Given the description of an element on the screen output the (x, y) to click on. 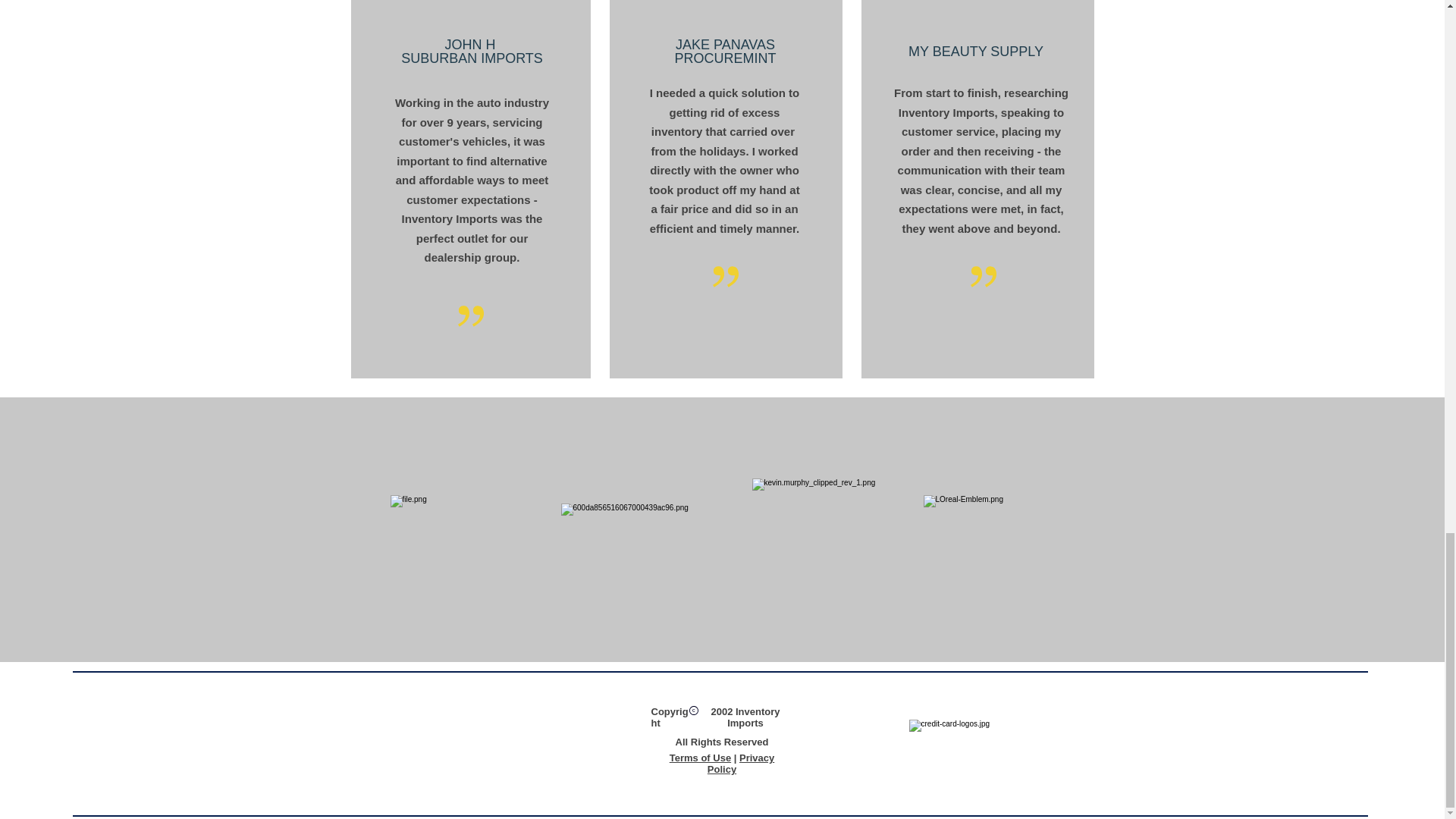
Privacy Policy (740, 763)
Terms of Use (699, 757)
Copyright (668, 716)
All Rights Reserved (721, 741)
2002 Inventory Imports (744, 716)
